Given the description of an element on the screen output the (x, y) to click on. 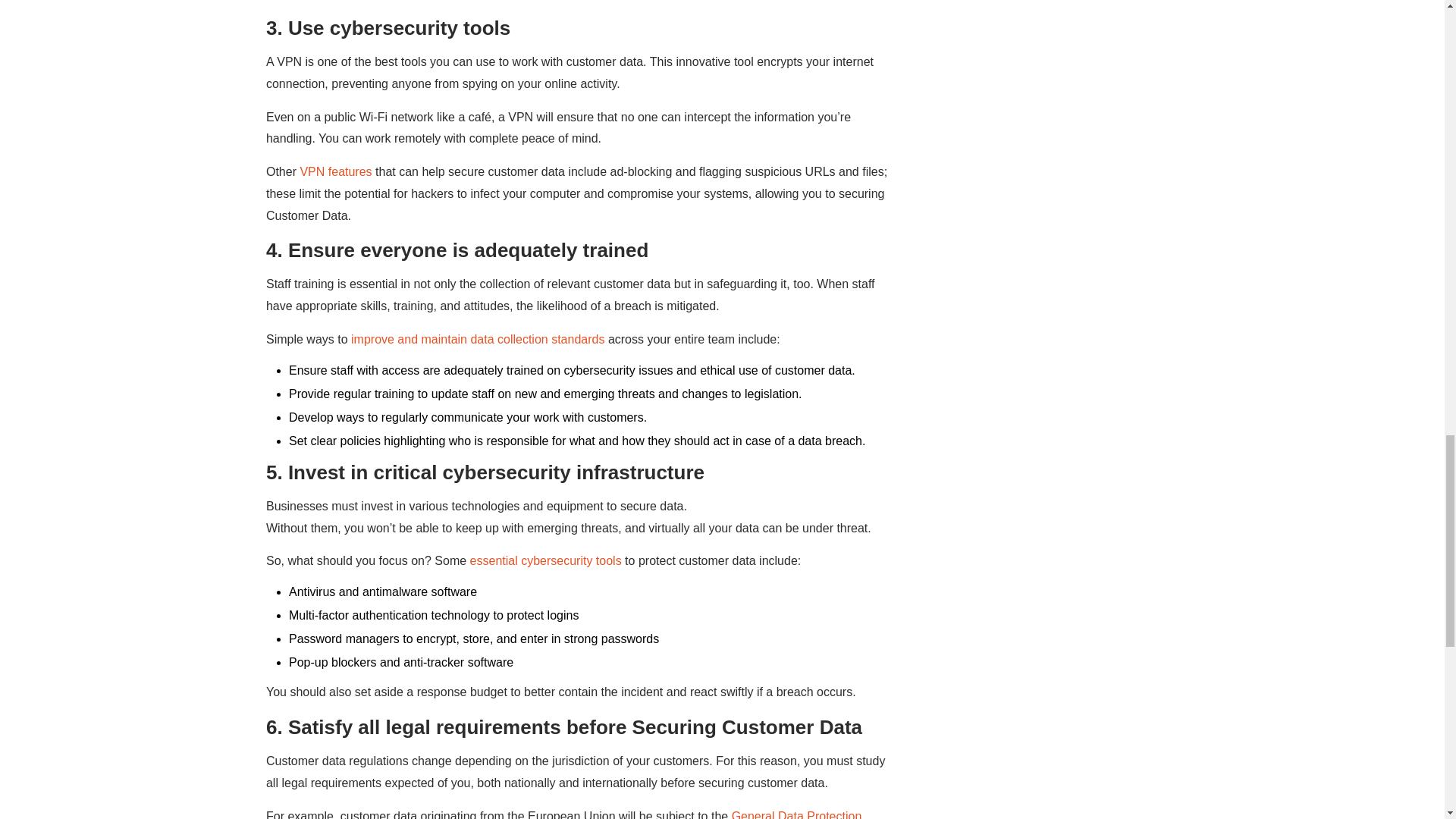
improve and maintain data collection standards (477, 338)
General Data Protection Regulation (563, 814)
VPN features (335, 171)
essential cybersecurity tools (545, 560)
